Given the description of an element on the screen output the (x, y) to click on. 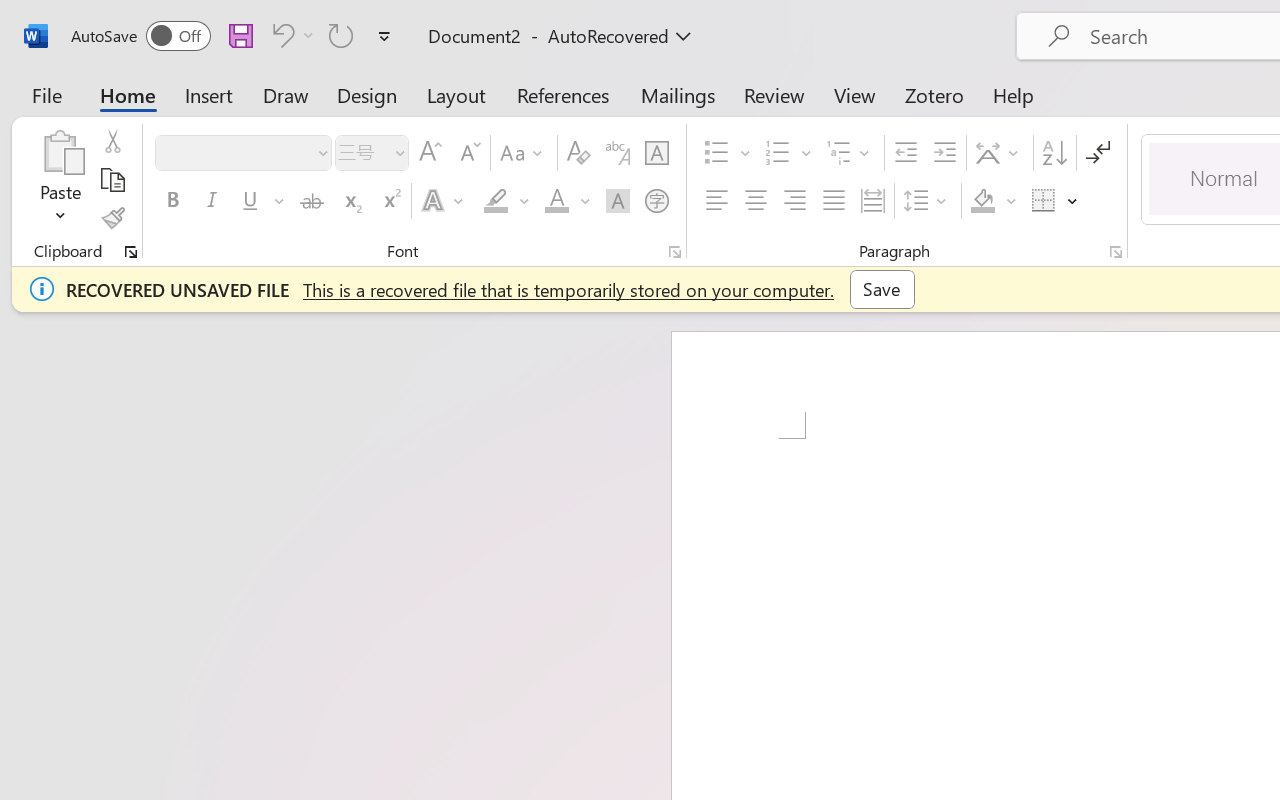
Distributed (872, 201)
Character Border (656, 153)
Open (399, 152)
Text Highlight Color Yellow (495, 201)
Can't Repeat (341, 35)
Format Painter (112, 218)
